Given the description of an element on the screen output the (x, y) to click on. 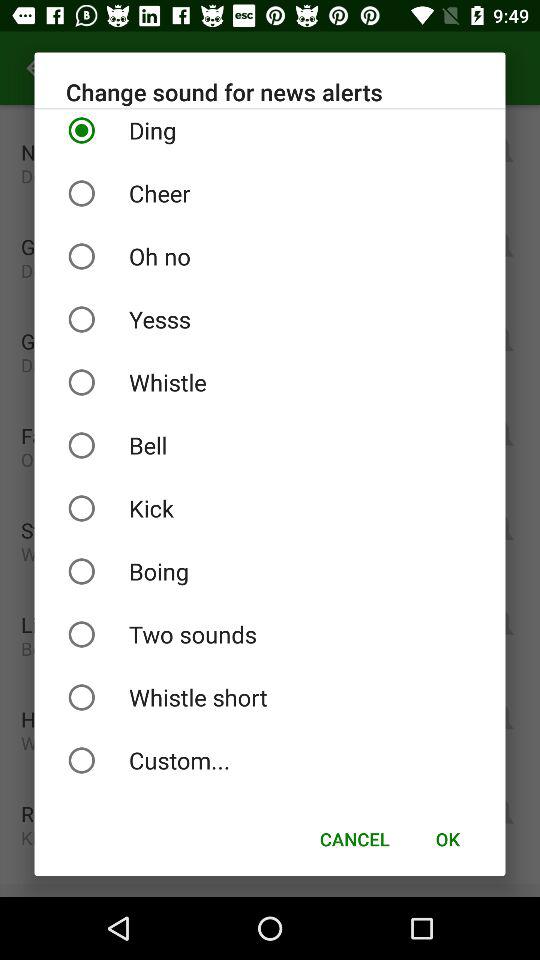
tap the icon to the left of ok item (354, 838)
